Given the description of an element on the screen output the (x, y) to click on. 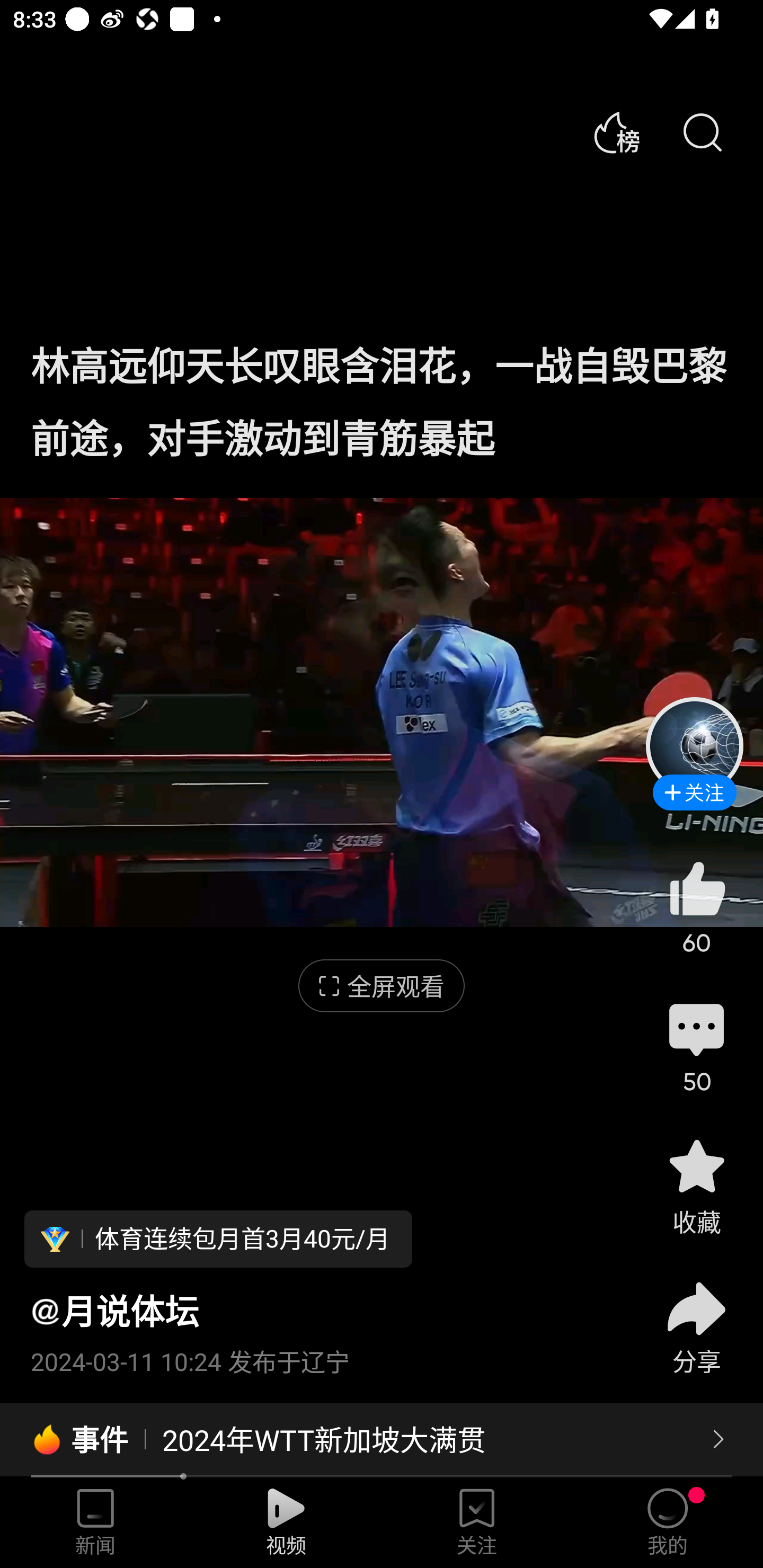
 热榜 (616, 133)
 搜索 (701, 133)
赞 60 (696, 906)
全屏观看 (381, 985)
评论  50 (696, 1045)
收藏 (696, 1184)
体育连续包月首3月40元/月 (218, 1238)
分享  分享 (696, 1315)
月说体坛 (114, 1310)
2024-03-11 10:24 发布于辽宁 (321, 1355)
事件 2024年WTT新加坡大满贯  (381, 1440)
